Given the description of an element on the screen output the (x, y) to click on. 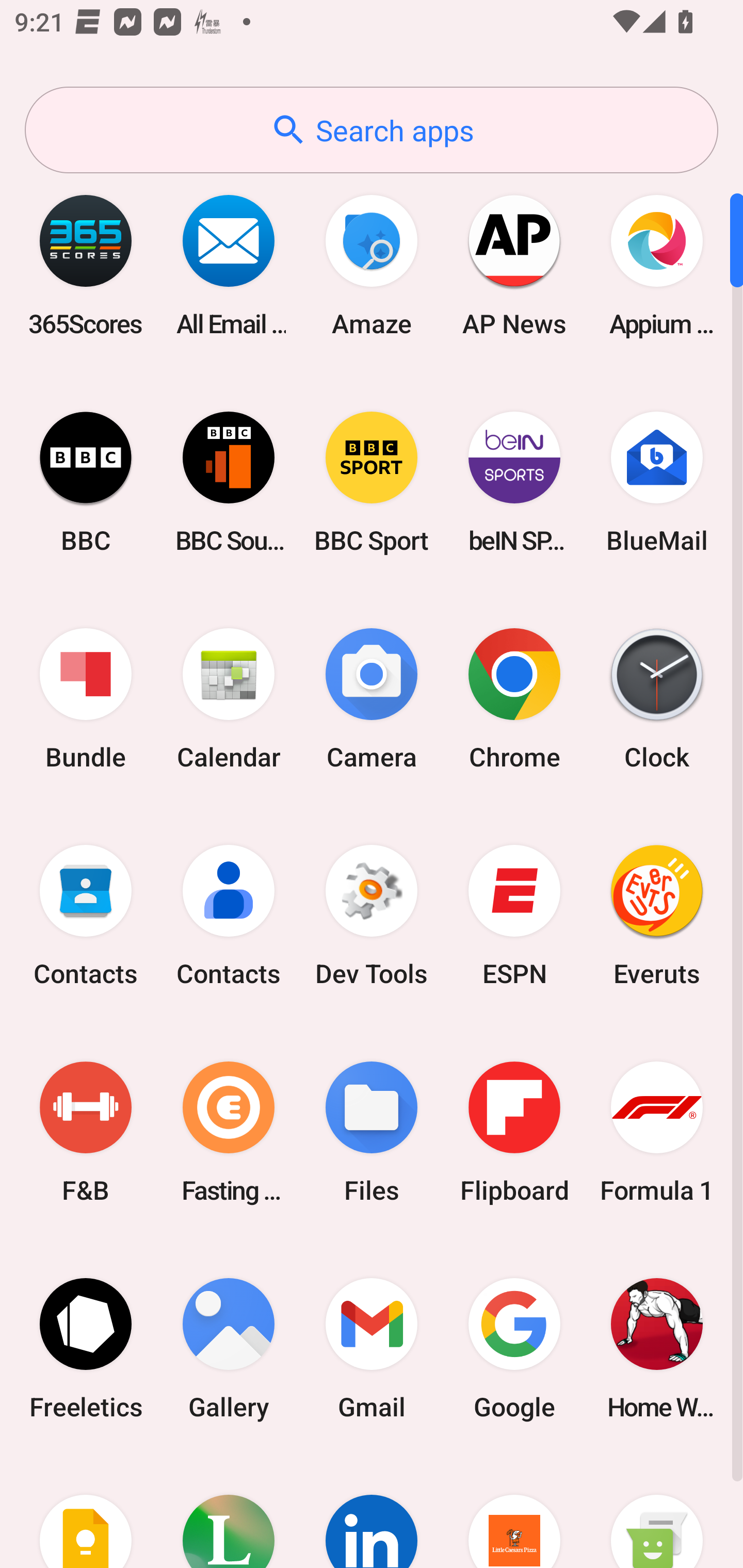
  Search apps (371, 130)
365Scores (85, 264)
All Email Connect (228, 264)
Amaze (371, 264)
AP News (514, 264)
Appium Settings (656, 264)
BBC (85, 482)
BBC Sounds (228, 482)
BBC Sport (371, 482)
beIN SPORTS (514, 482)
BlueMail (656, 482)
Bundle (85, 699)
Calendar (228, 699)
Camera (371, 699)
Chrome (514, 699)
Clock (656, 699)
Contacts (85, 915)
Contacts (228, 915)
Dev Tools (371, 915)
ESPN (514, 915)
Everuts (656, 915)
F&B (85, 1131)
Fasting Coach (228, 1131)
Files (371, 1131)
Flipboard (514, 1131)
Formula 1 (656, 1131)
Freeletics (85, 1348)
Gallery (228, 1348)
Gmail (371, 1348)
Google (514, 1348)
Home Workout (656, 1348)
